Given the description of an element on the screen output the (x, y) to click on. 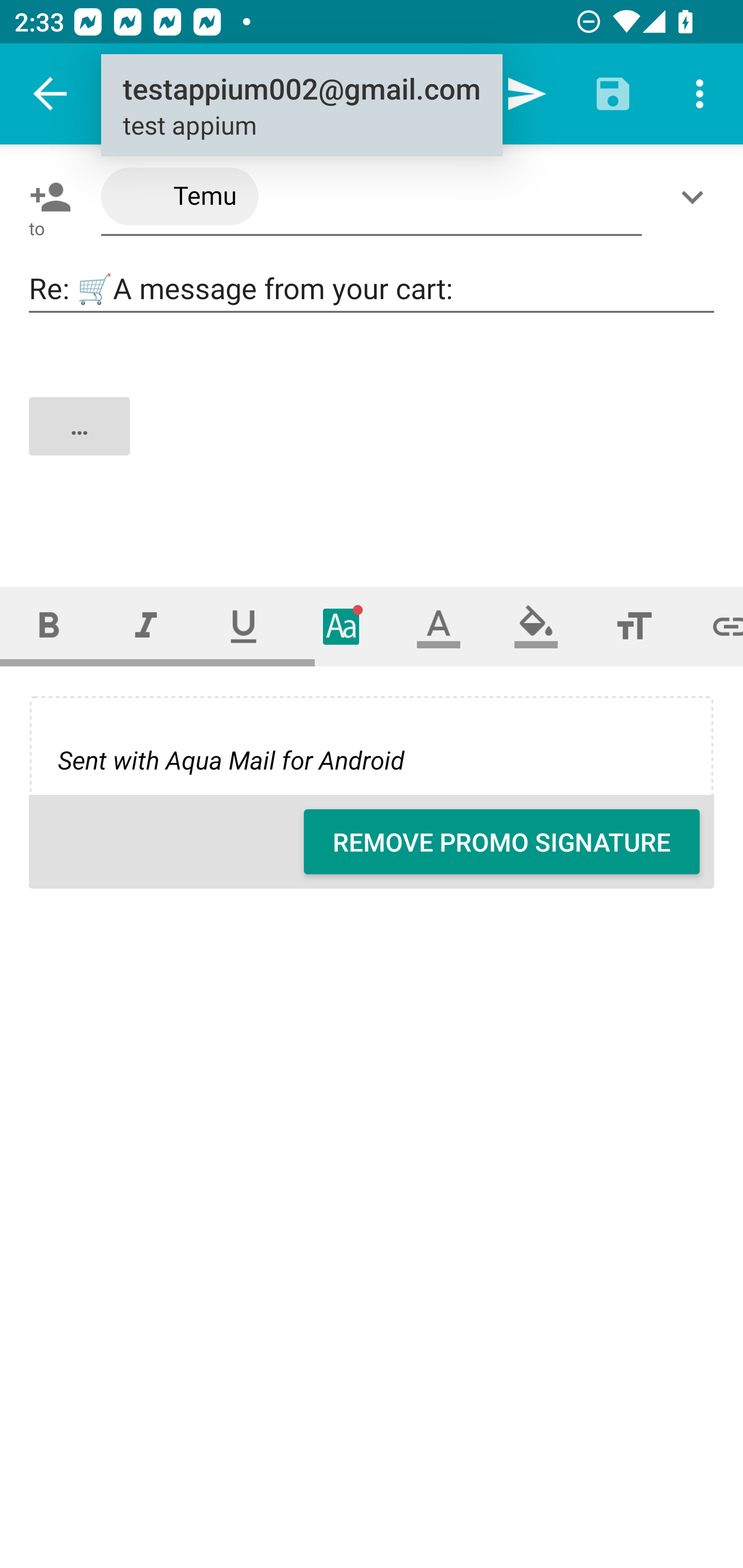
testappium002@gmail.com test appium (301, 105)
